Given the description of an element on the screen output the (x, y) to click on. 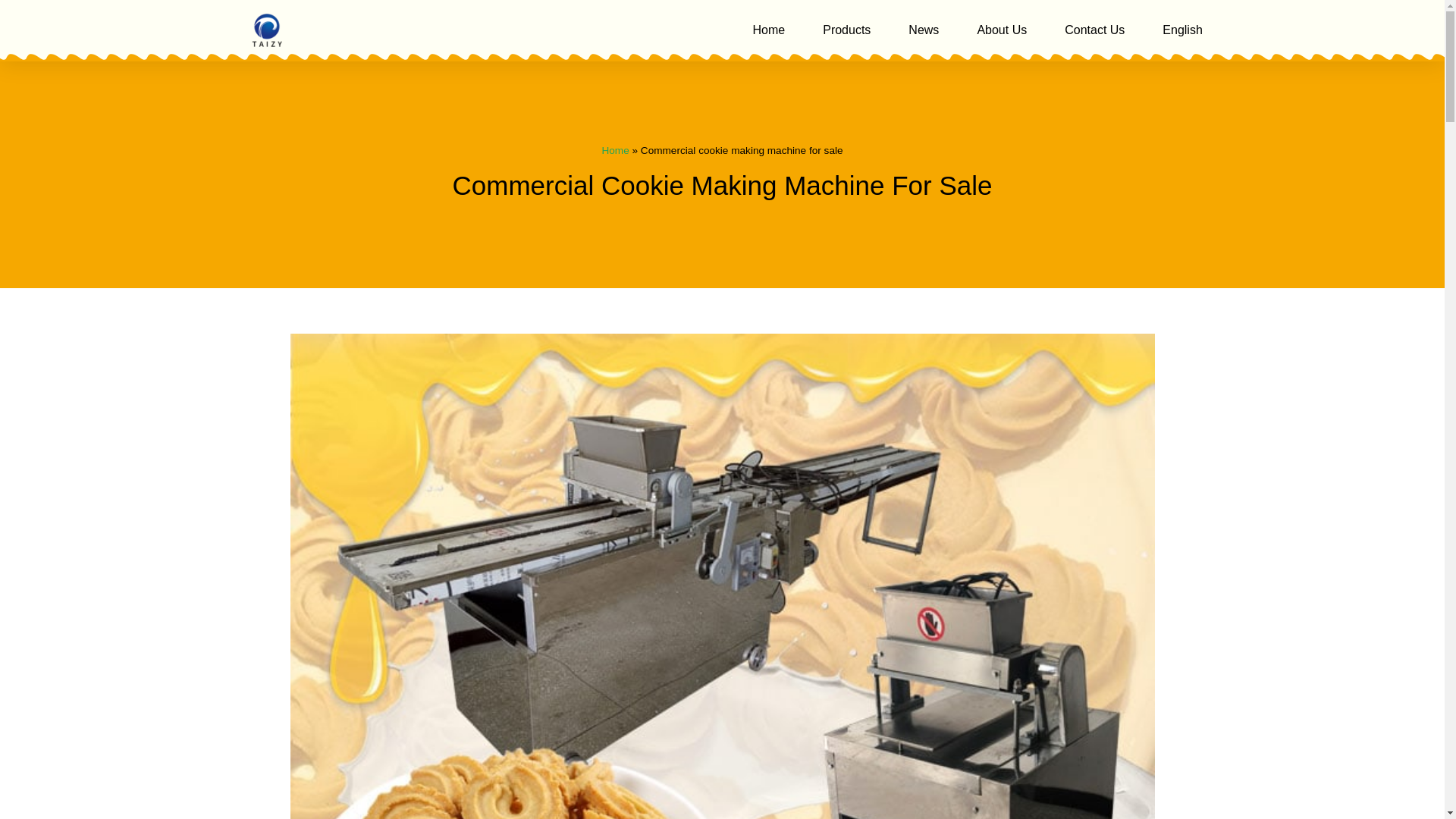
1 (266, 29)
Contact Us (1094, 30)
Home (769, 30)
About Us (1001, 30)
English (1181, 30)
Home (614, 150)
Products (846, 30)
